Given the description of an element on the screen output the (x, y) to click on. 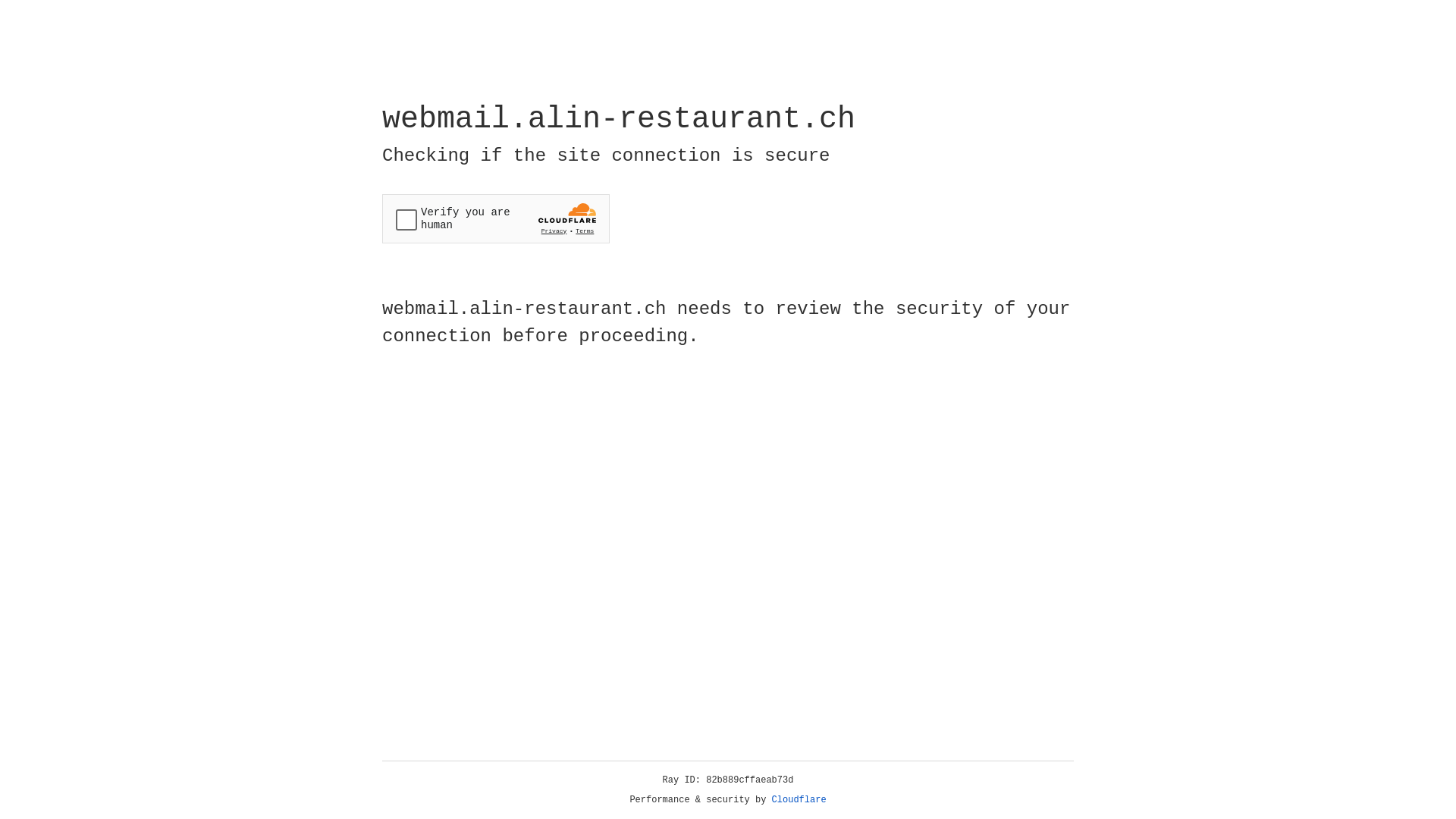
Widget containing a Cloudflare security challenge Element type: hover (495, 218)
Cloudflare Element type: text (798, 799)
